Given the description of an element on the screen output the (x, y) to click on. 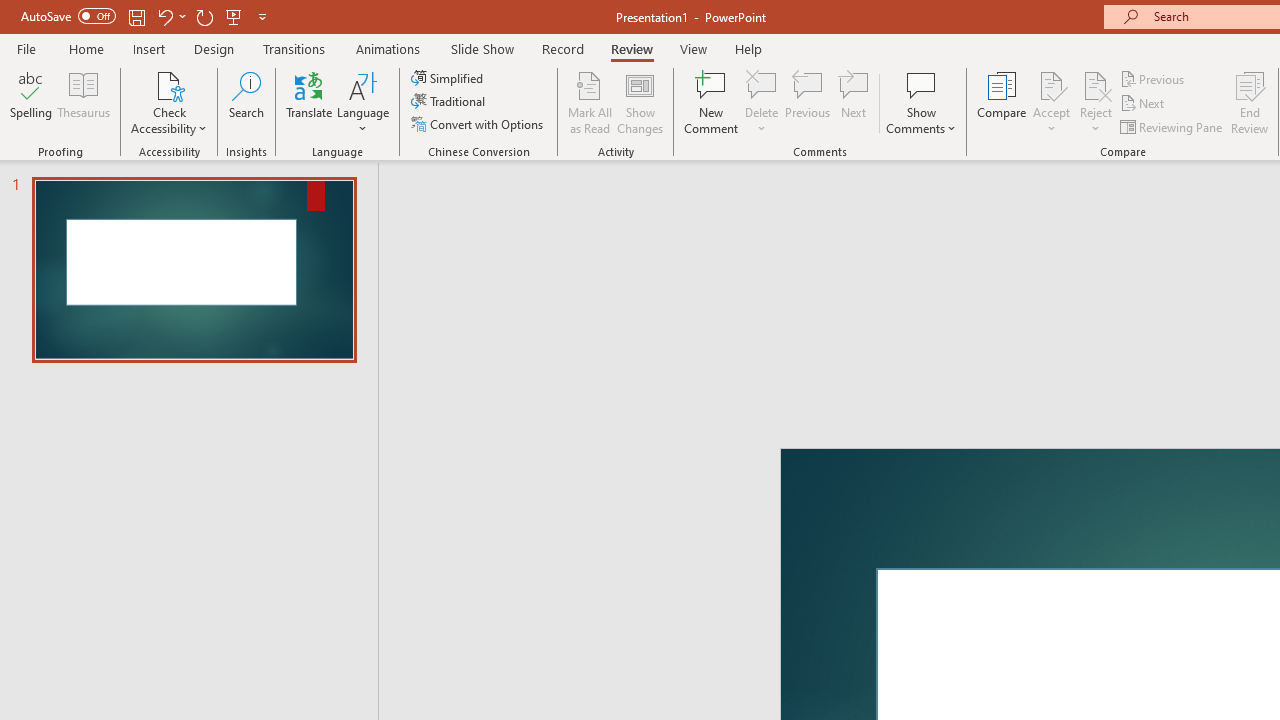
Reject Change (1096, 84)
Convert with Options... (479, 124)
Accept (1051, 102)
Simplified (449, 78)
